Given the description of an element on the screen output the (x, y) to click on. 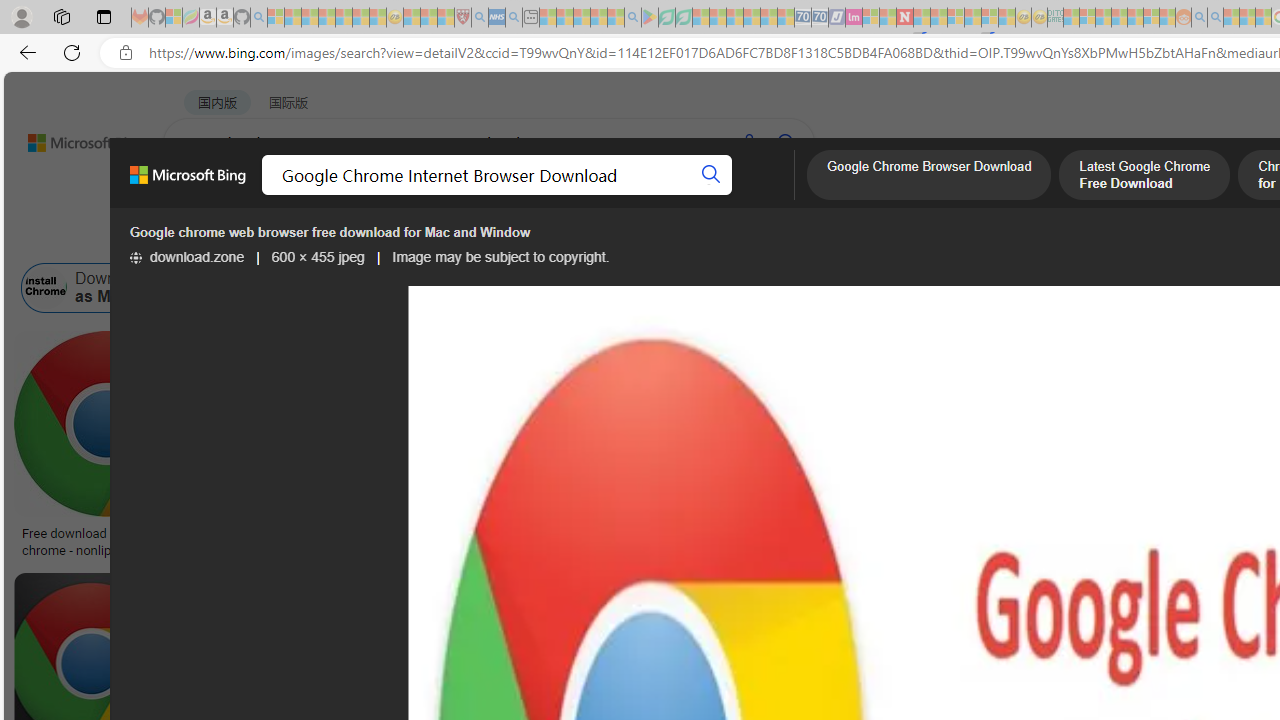
Install Google Chrome Web Browser (1051, 287)
License (665, 237)
Google Chrome Web Browser Free Download (665, 287)
Download Google Chrome as My Web Browser (152, 287)
Image size (221, 237)
WEB (201, 195)
